Given the description of an element on the screen output the (x, y) to click on. 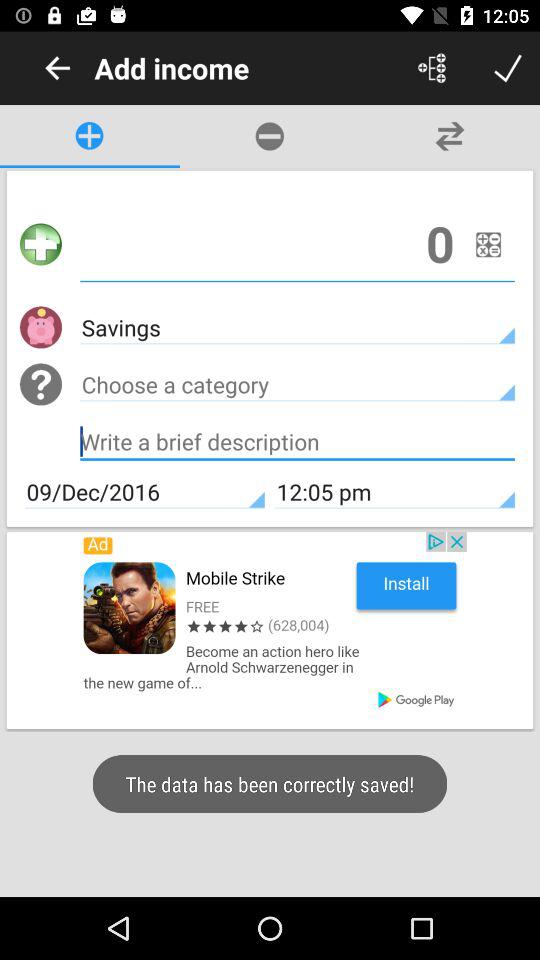
open keyboard (297, 444)
